Given the description of an element on the screen output the (x, y) to click on. 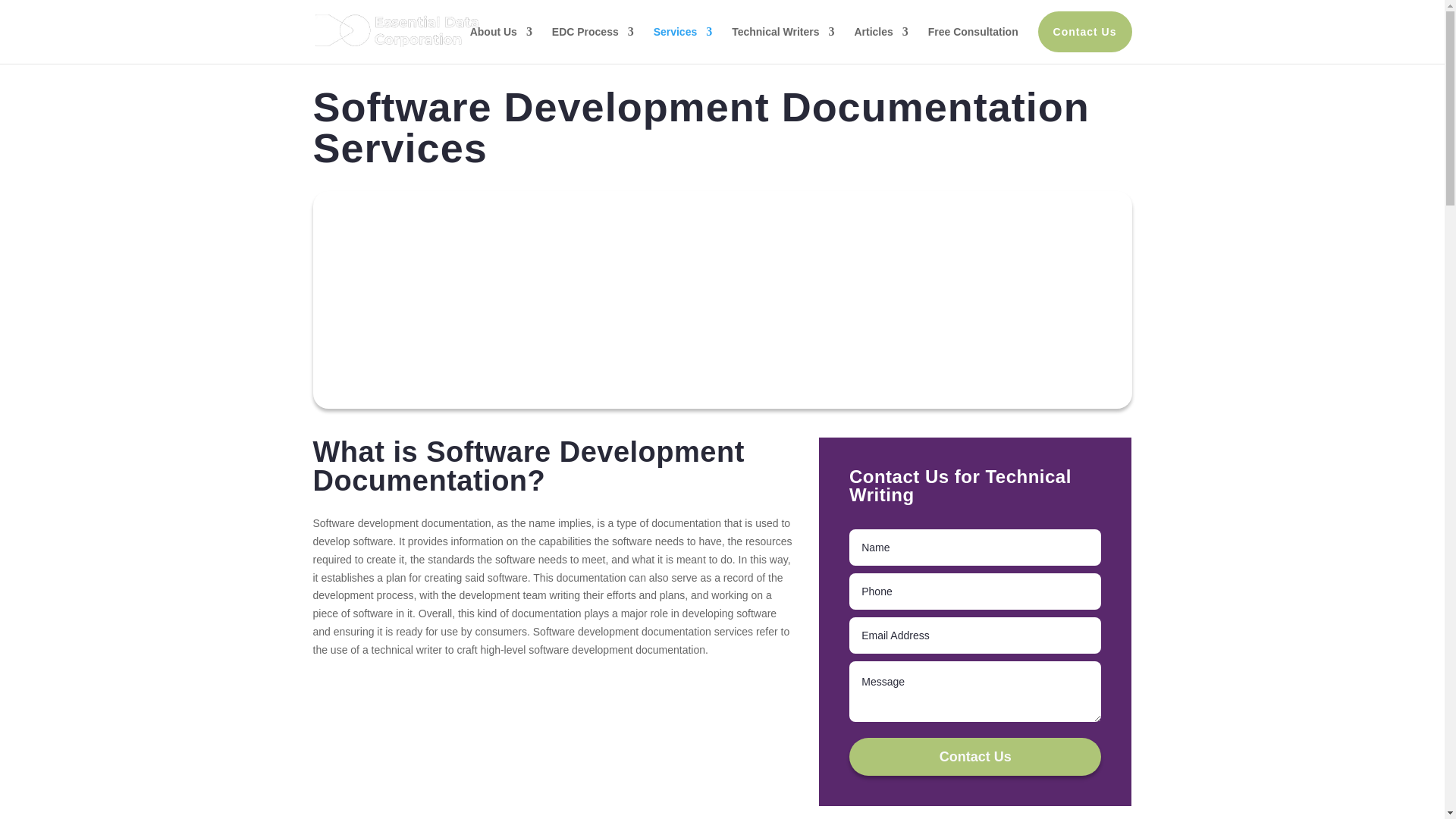
Services (683, 31)
Technical Writing Company (501, 31)
Technical Writing Process (592, 31)
About Us (501, 31)
Technical Writing and Documentation Services (683, 31)
EDC Process (592, 31)
